Given the description of an element on the screen output the (x, y) to click on. 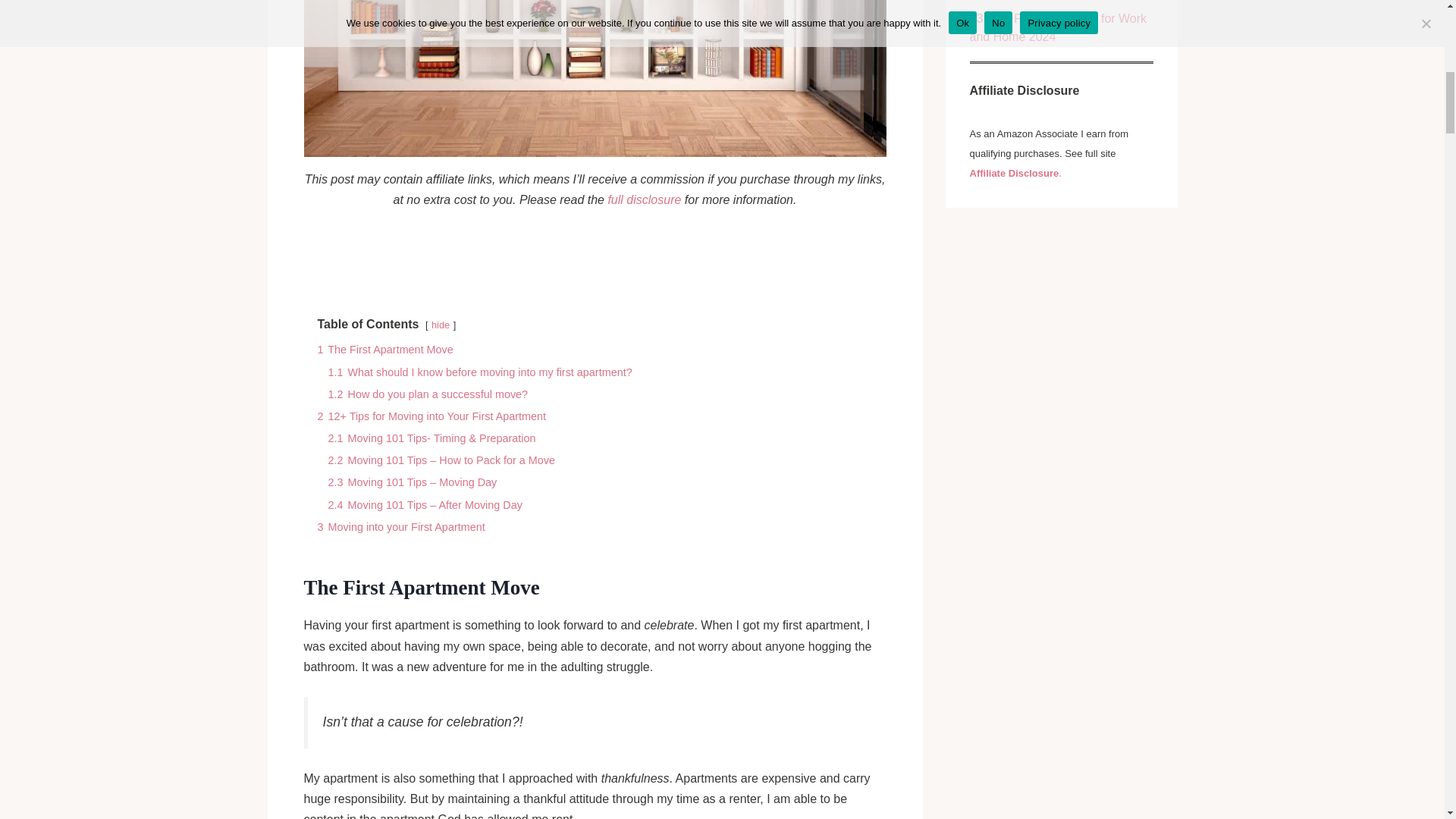
1 The First Apartment Move (384, 349)
hide (439, 324)
full disclosure (644, 199)
